Given the description of an element on the screen output the (x, y) to click on. 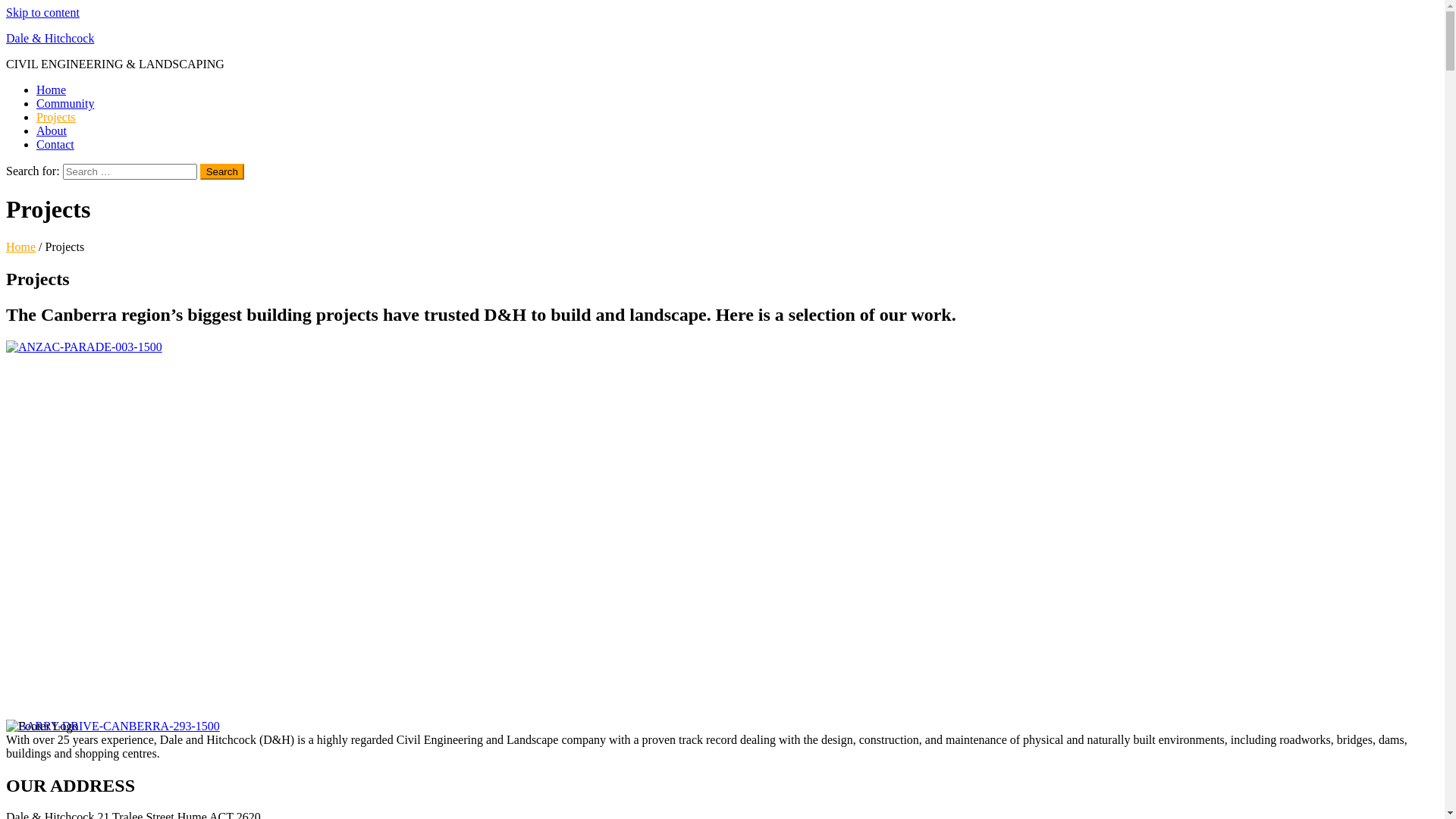
Home Element type: text (20, 246)
About Element type: text (51, 130)
Contact Element type: text (55, 144)
Footer Logo Element type: hover (42, 726)
Skip to content Element type: text (42, 12)
Search Element type: text (222, 171)
Projects Element type: text (55, 116)
Community Element type: text (65, 103)
Home Element type: text (50, 89)
Dale & Hitchcock Element type: text (50, 37)
